Given the description of an element on the screen output the (x, y) to click on. 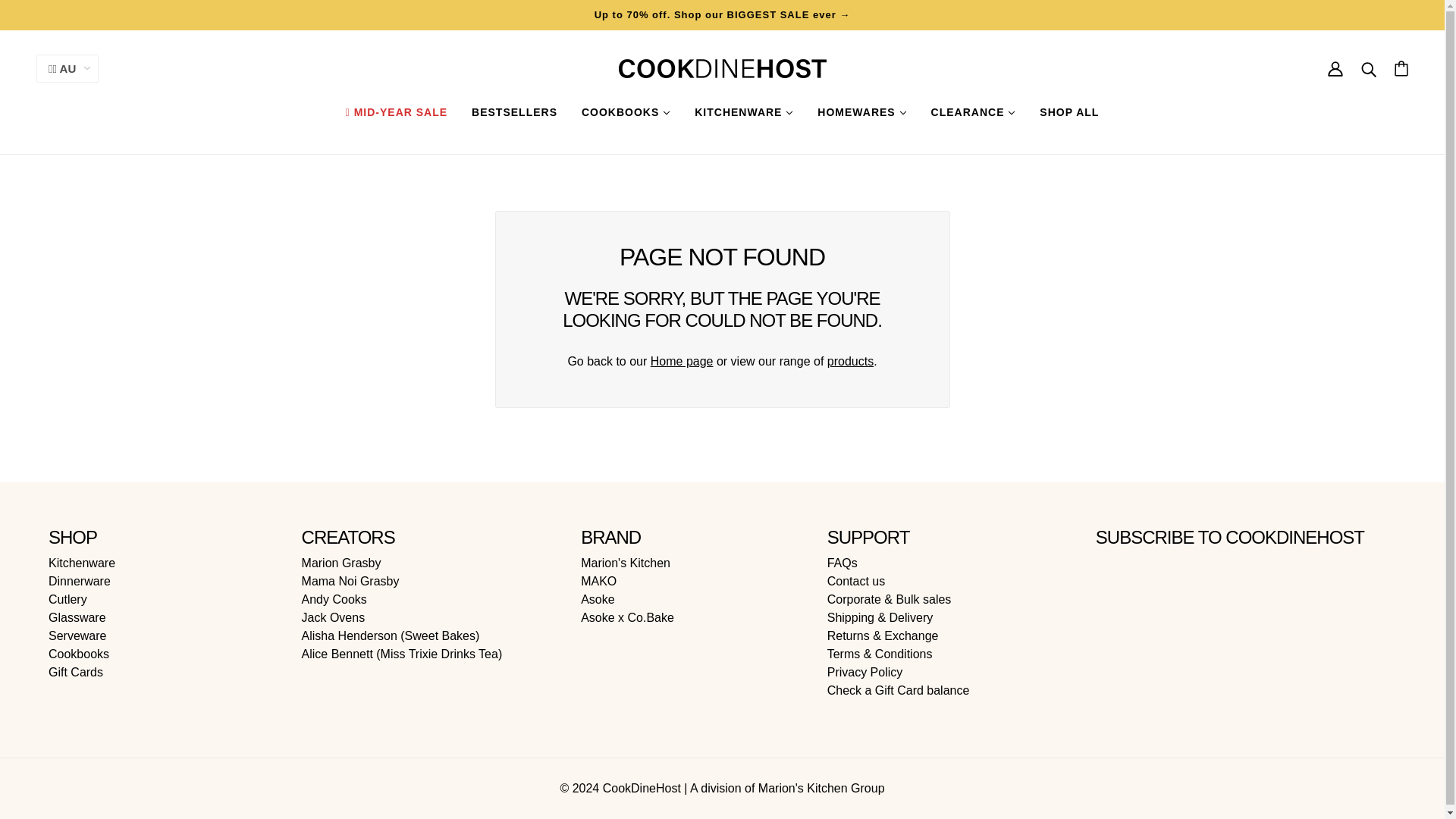
Home page (681, 360)
CookDineHost (722, 67)
SHOP ALL (1068, 112)
MAKO (597, 581)
Asoke x Co.Bake (627, 617)
Marion's Kitchen (624, 562)
Dinnerware (79, 581)
Gift Cards (75, 671)
Marion Grasby (341, 562)
Asoke (597, 599)
Mama Noi Grasby (349, 581)
COOKBOOKS (625, 112)
KITCHENWARE (743, 112)
BESTSELLERS (514, 112)
Cutlery (67, 599)
